Given the description of an element on the screen output the (x, y) to click on. 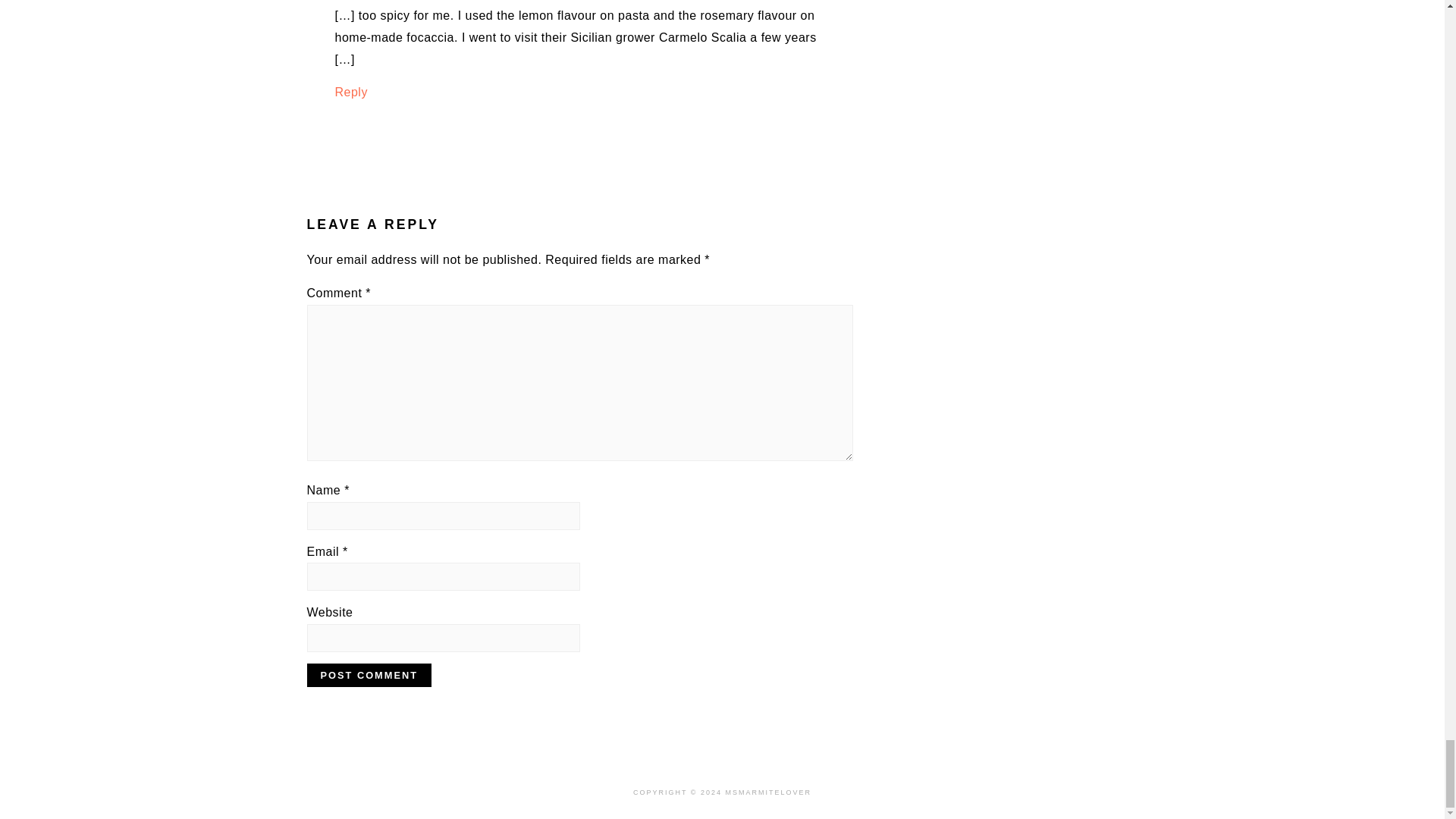
Post Comment (367, 675)
